Given the description of an element on the screen output the (x, y) to click on. 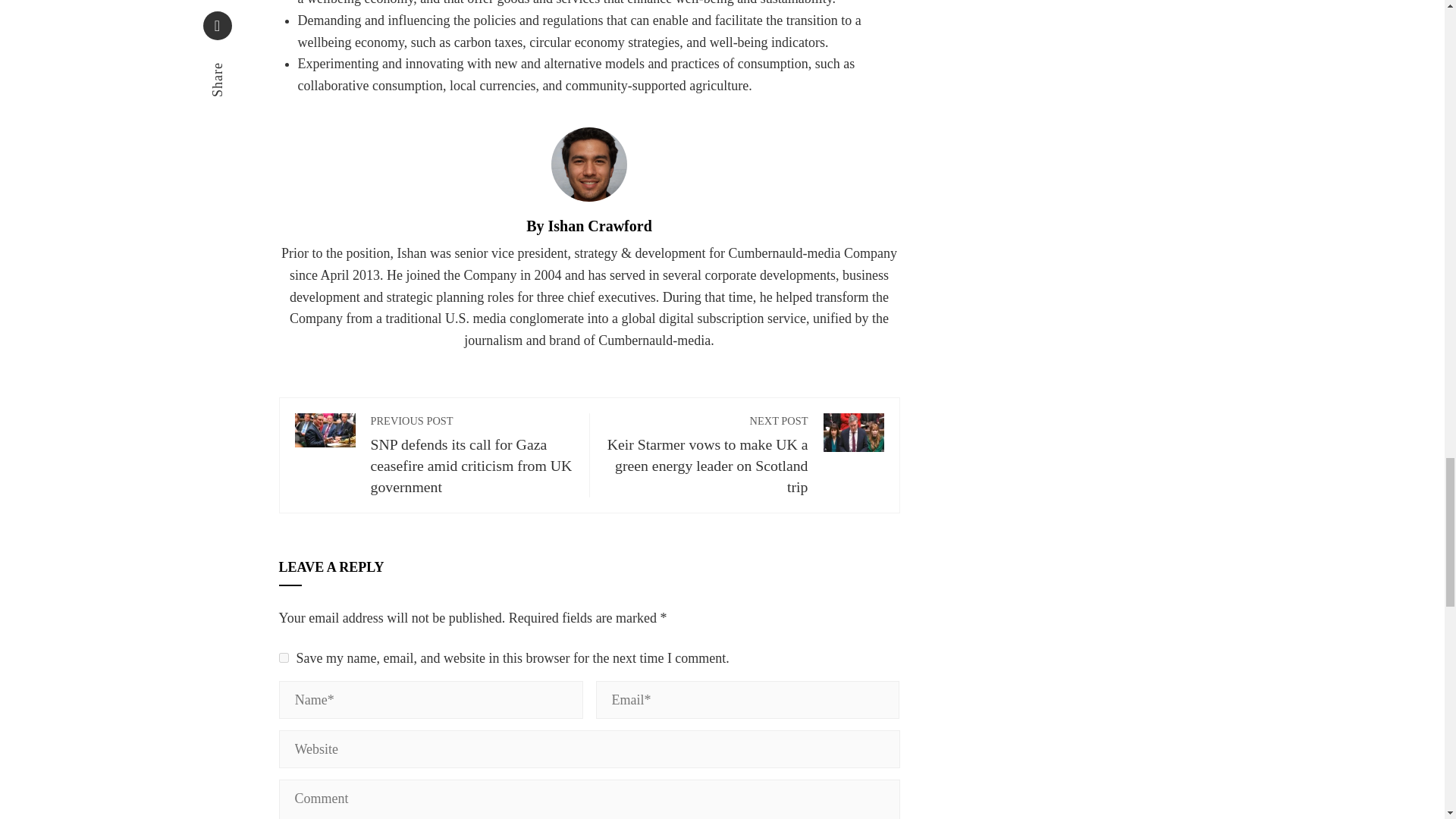
yes (283, 657)
